Given the description of an element on the screen output the (x, y) to click on. 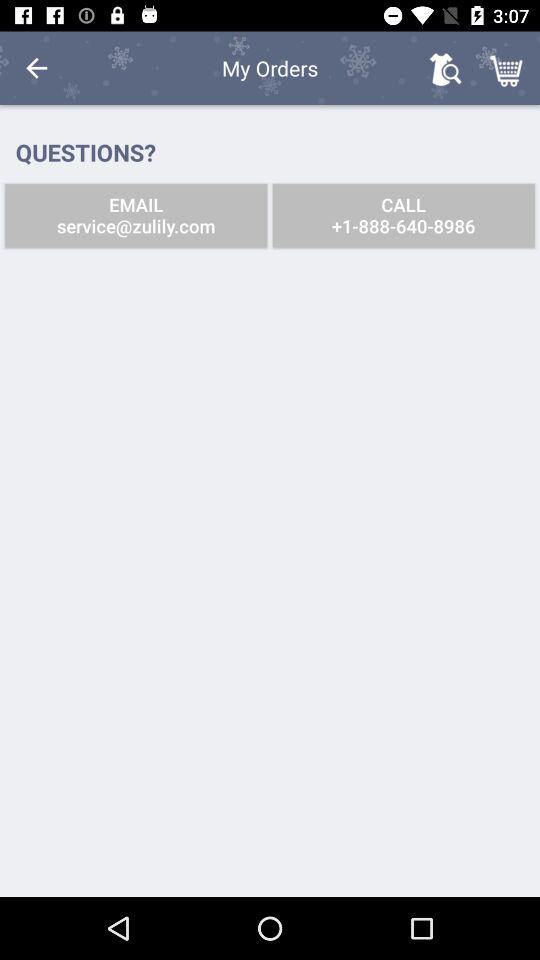
click the icon next to the my orders (444, 67)
